Given the description of an element on the screen output the (x, y) to click on. 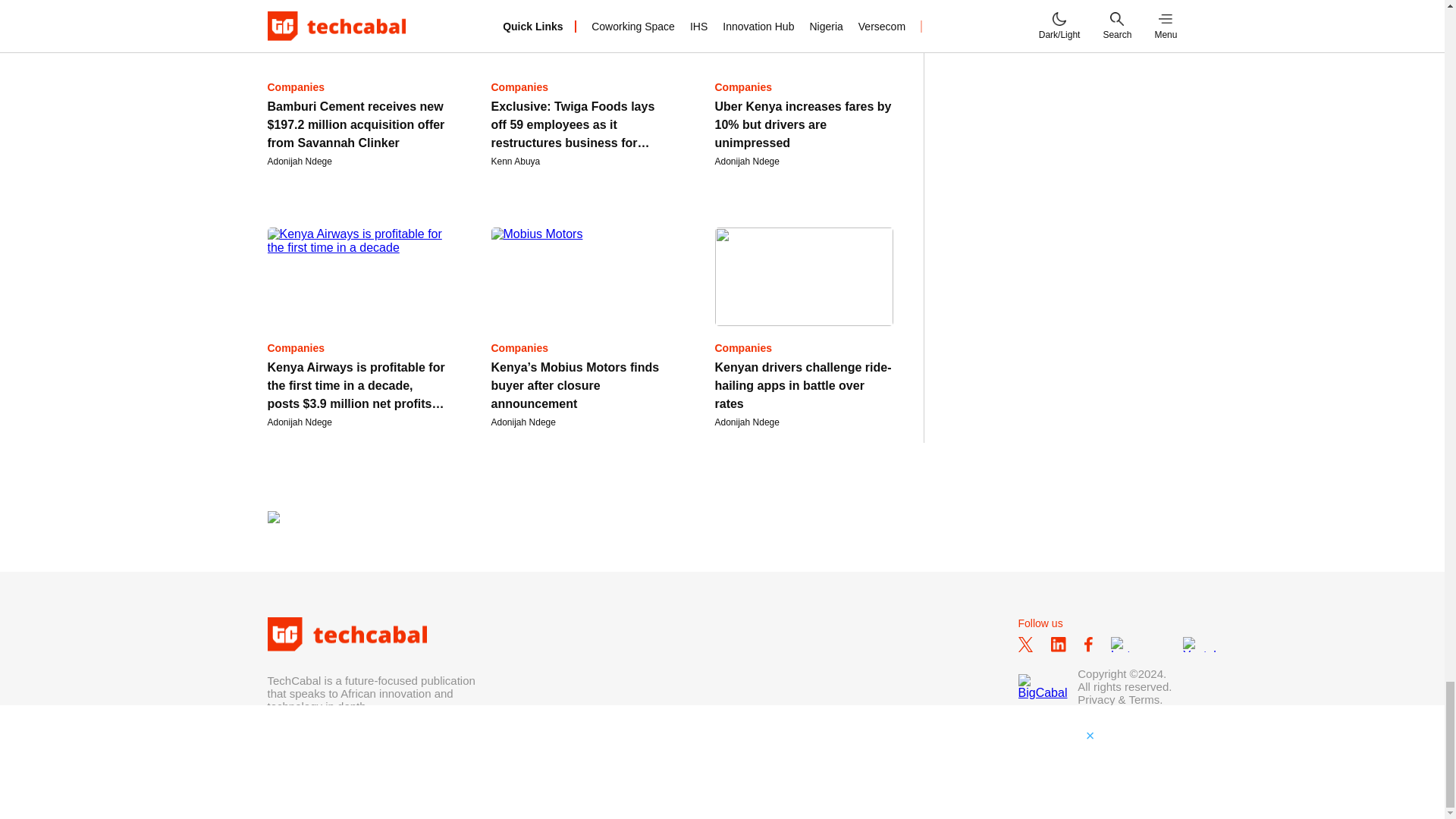
Posts by Adonijah Ndege (524, 421)
Posts by Adonijah Ndege (746, 421)
Posts by Adonijah Ndege (298, 421)
Posts by Kenn Abuya (516, 161)
Posts by Adonijah Ndege (746, 161)
Posts by Adonijah Ndege (298, 161)
